Given the description of an element on the screen output the (x, y) to click on. 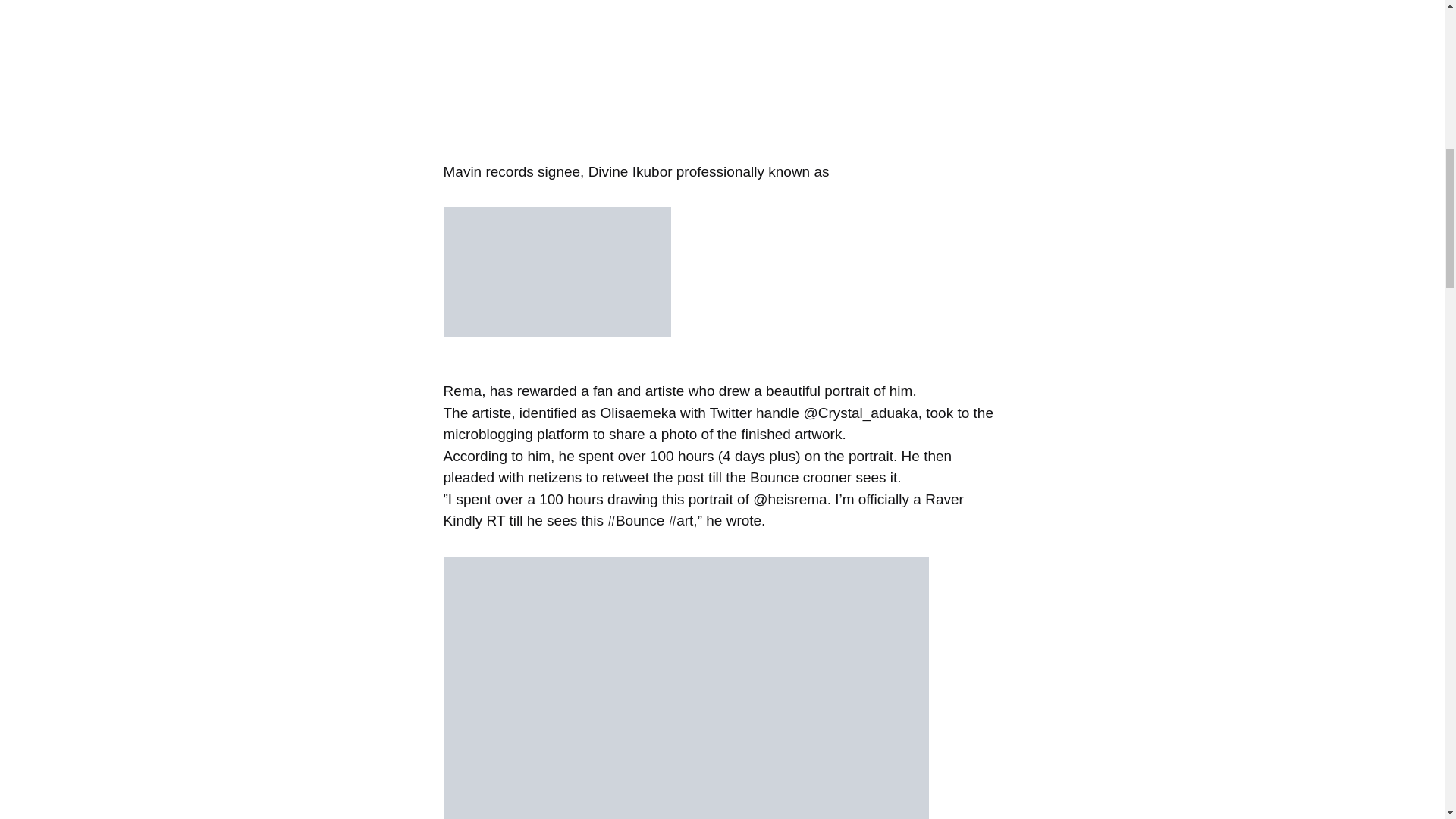
Advertisement (275, 74)
